Given the description of an element on the screen output the (x, y) to click on. 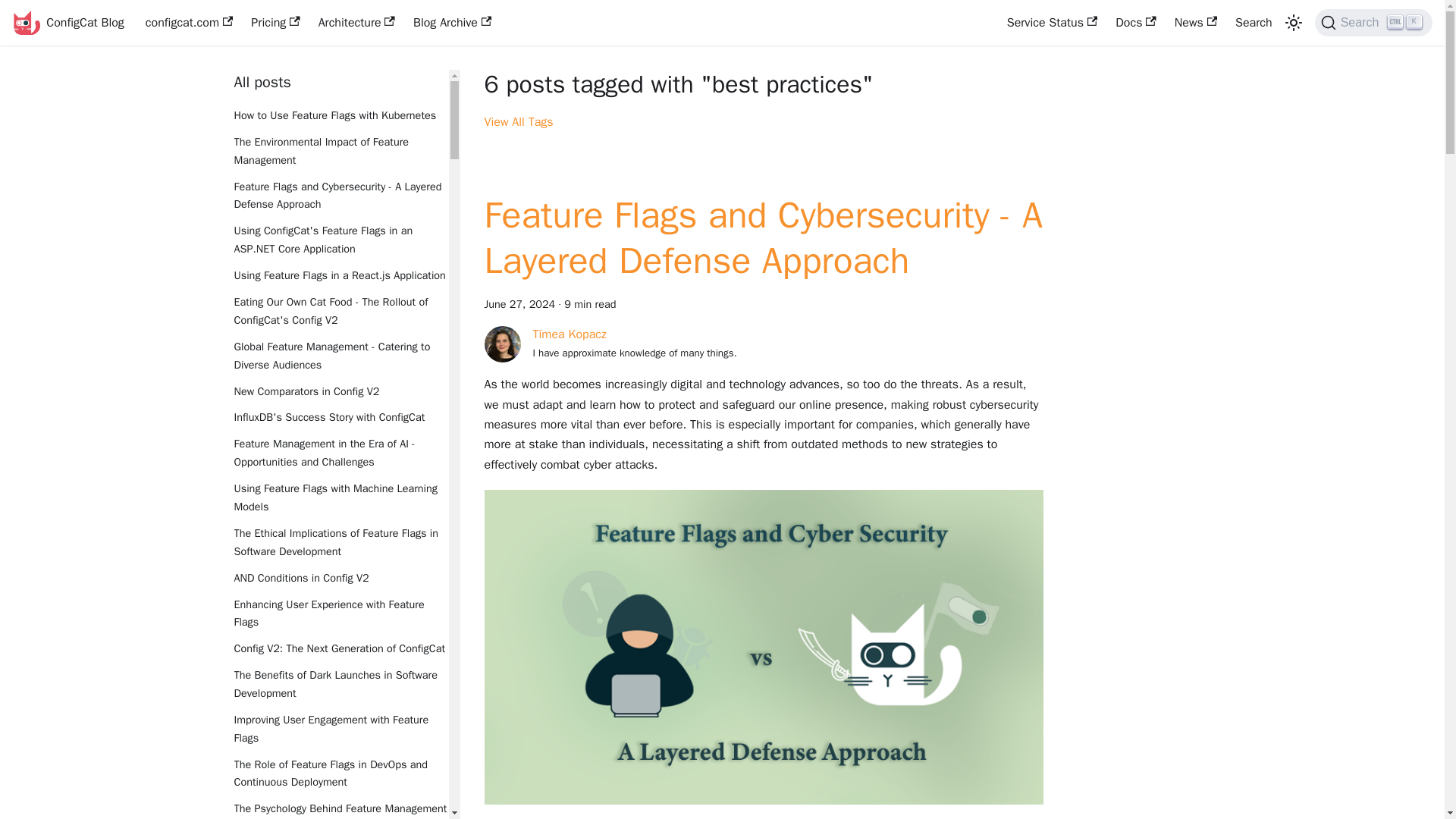
Using Feature Flags in a React.js Application (340, 275)
AND Conditions in Config V2 (340, 578)
Pricing (274, 22)
Blog Archive (452, 22)
Search (1253, 22)
ConfigCat Blog (67, 22)
The Environmental Impact of Feature Management (340, 151)
News (1195, 22)
The Benefits of Dark Launches in Software Development (340, 684)
New Comparators in Config V2 (340, 391)
Using Feature Flags with Machine Learning Models (340, 497)
Service Status (1051, 22)
Config V2: The Next Generation of ConfigCat (340, 648)
